Given the description of an element on the screen output the (x, y) to click on. 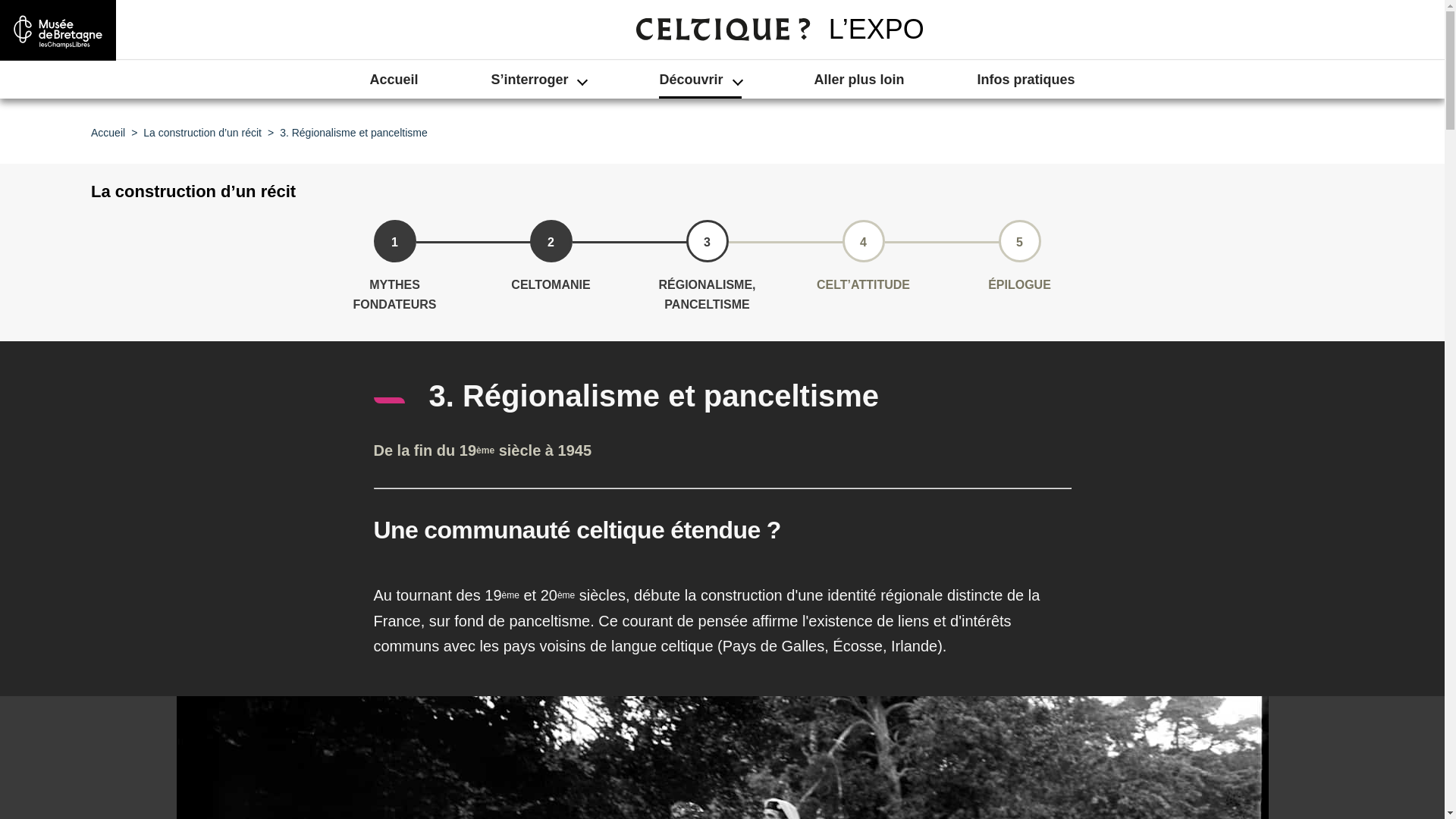
2
CELTOMANIE Element type: text (550, 241)
Infos pratiques Element type: text (1026, 79)
1
MYTHES FONDATEURS Element type: text (394, 241)
Accueil Element type: text (393, 79)
Accueil Element type: text (108, 132)
Aller plus loin Element type: text (859, 79)
